Given the description of an element on the screen output the (x, y) to click on. 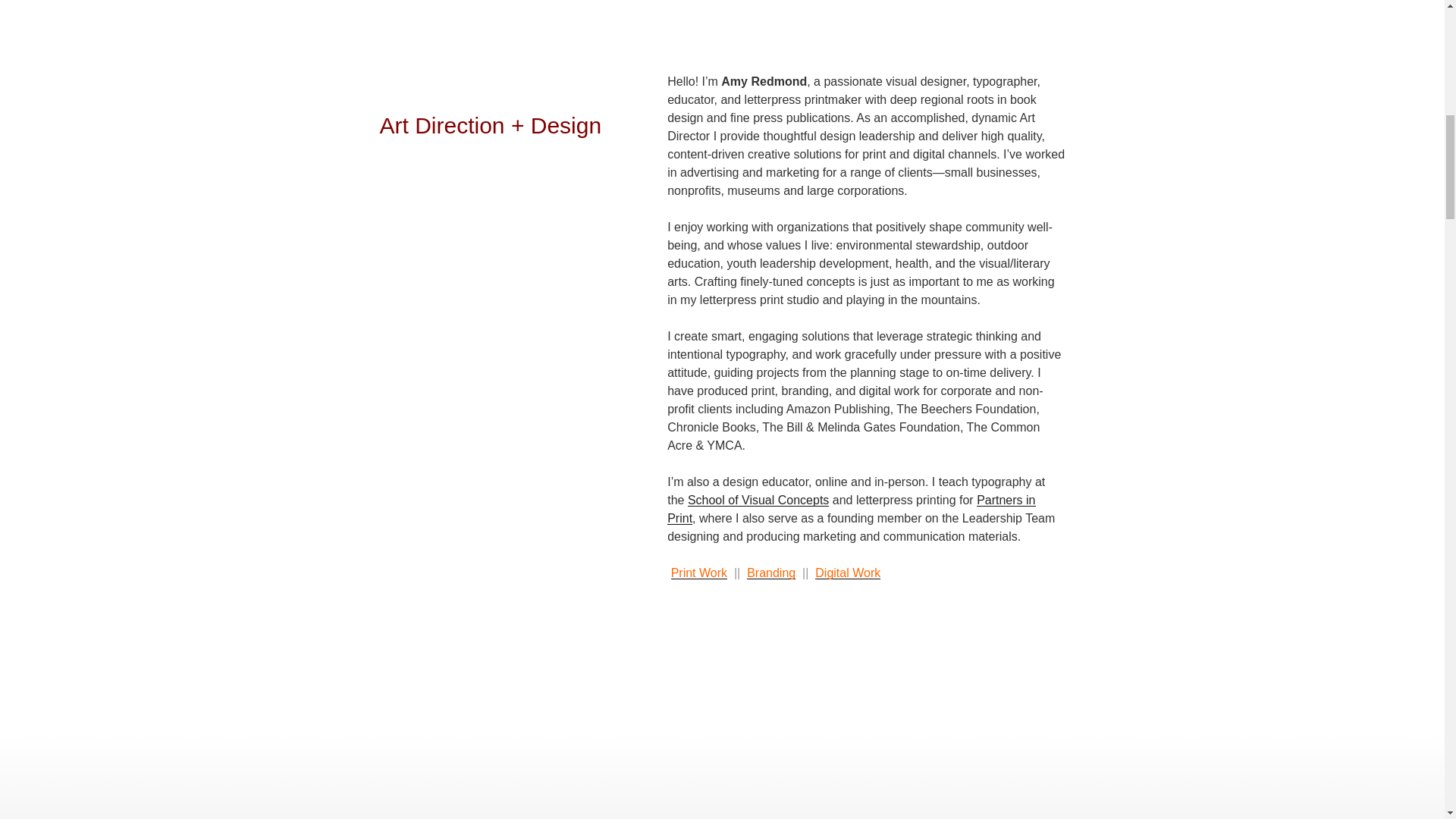
School of Visual Concepts (757, 499)
Print Work (698, 572)
Branding (770, 572)
Digital Work (847, 572)
Partners in Print (850, 508)
